Given the description of an element on the screen output the (x, y) to click on. 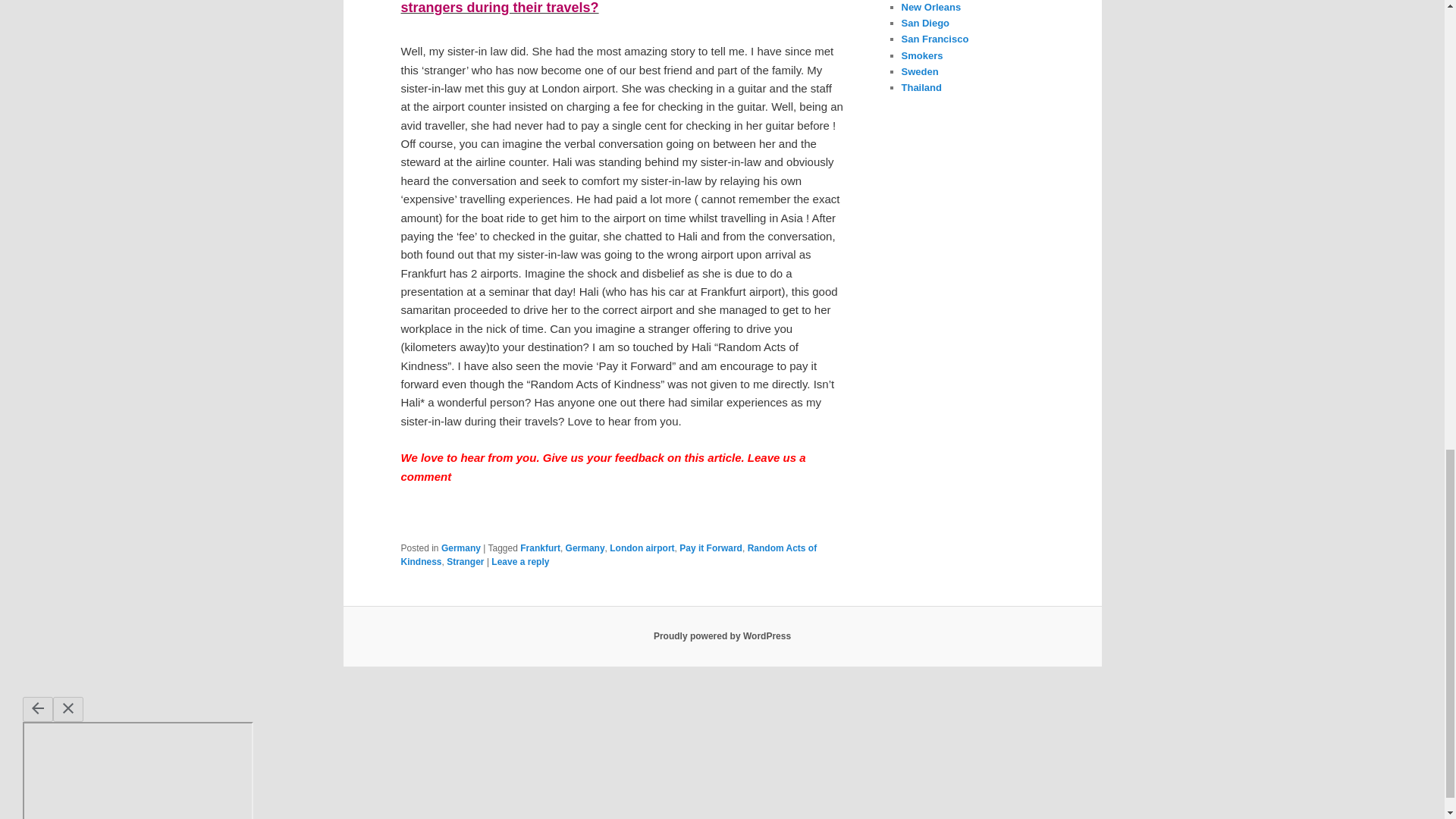
Frankfurt (539, 547)
Germany (585, 547)
Semantic Personal Publishing Platform (721, 635)
Germany (460, 547)
Leave a reply (520, 561)
London airport (642, 547)
Stranger (464, 561)
Random Acts of Kindness (608, 554)
Pay it Forward (710, 547)
